Given the description of an element on the screen output the (x, y) to click on. 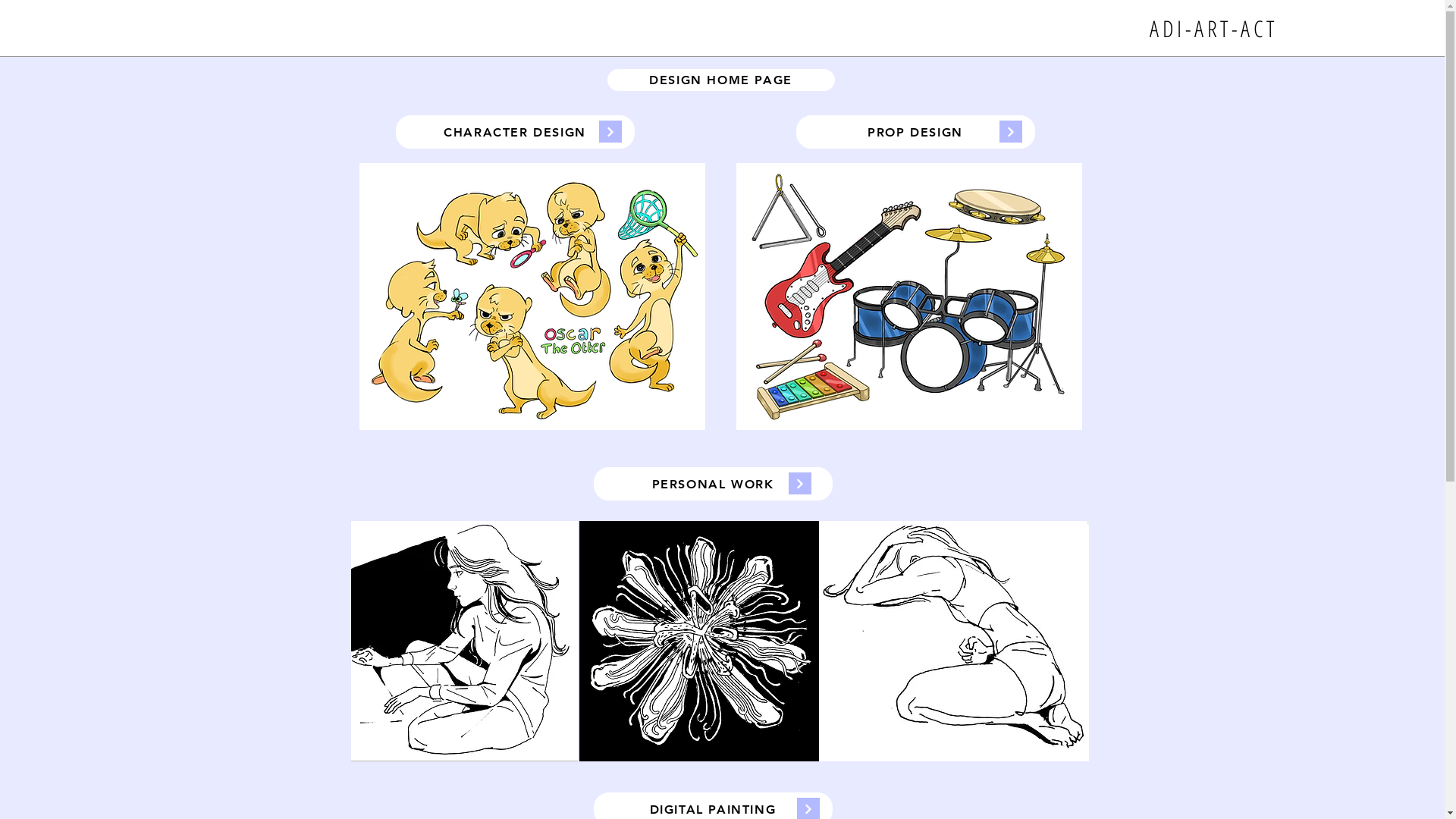
PROP DESIGN Element type: text (915, 131)
DESIGN HOME PAGE Element type: text (720, 80)
CHARACTER DESIGN Element type: text (514, 131)
PERSONAL WORK Element type: text (712, 483)
